Given the description of an element on the screen output the (x, y) to click on. 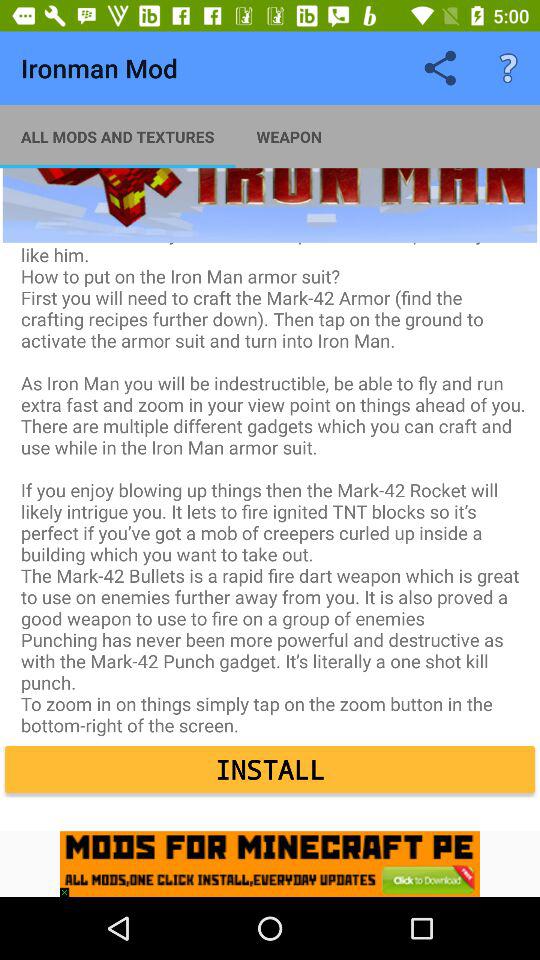
launch the item below the the iron man icon (270, 769)
